Given the description of an element on the screen output the (x, y) to click on. 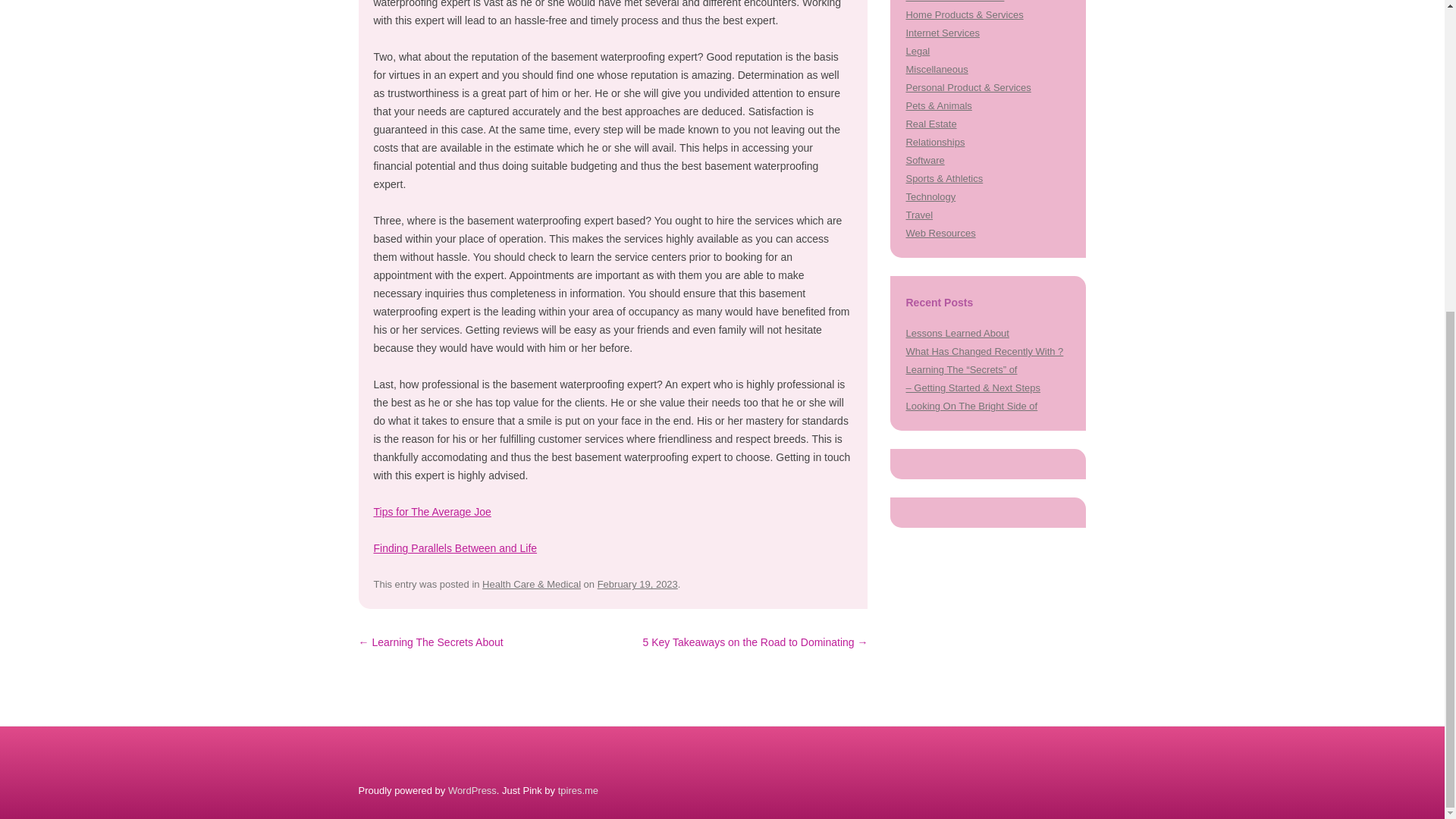
Semantic Personal Publishing Platform (472, 790)
Tips for The Average Joe (431, 511)
Miscellaneous (936, 69)
Relationships (934, 142)
Travel (919, 214)
Legal (917, 50)
What Has Changed Recently With ? (983, 351)
Lessons Learned About (957, 333)
8:25 am (637, 583)
Internet Services (941, 32)
Real Estate (930, 123)
Technology (930, 196)
Finding Parallels Between and Life (454, 548)
Web Resources (940, 233)
February 19, 2023 (637, 583)
